Given the description of an element on the screen output the (x, y) to click on. 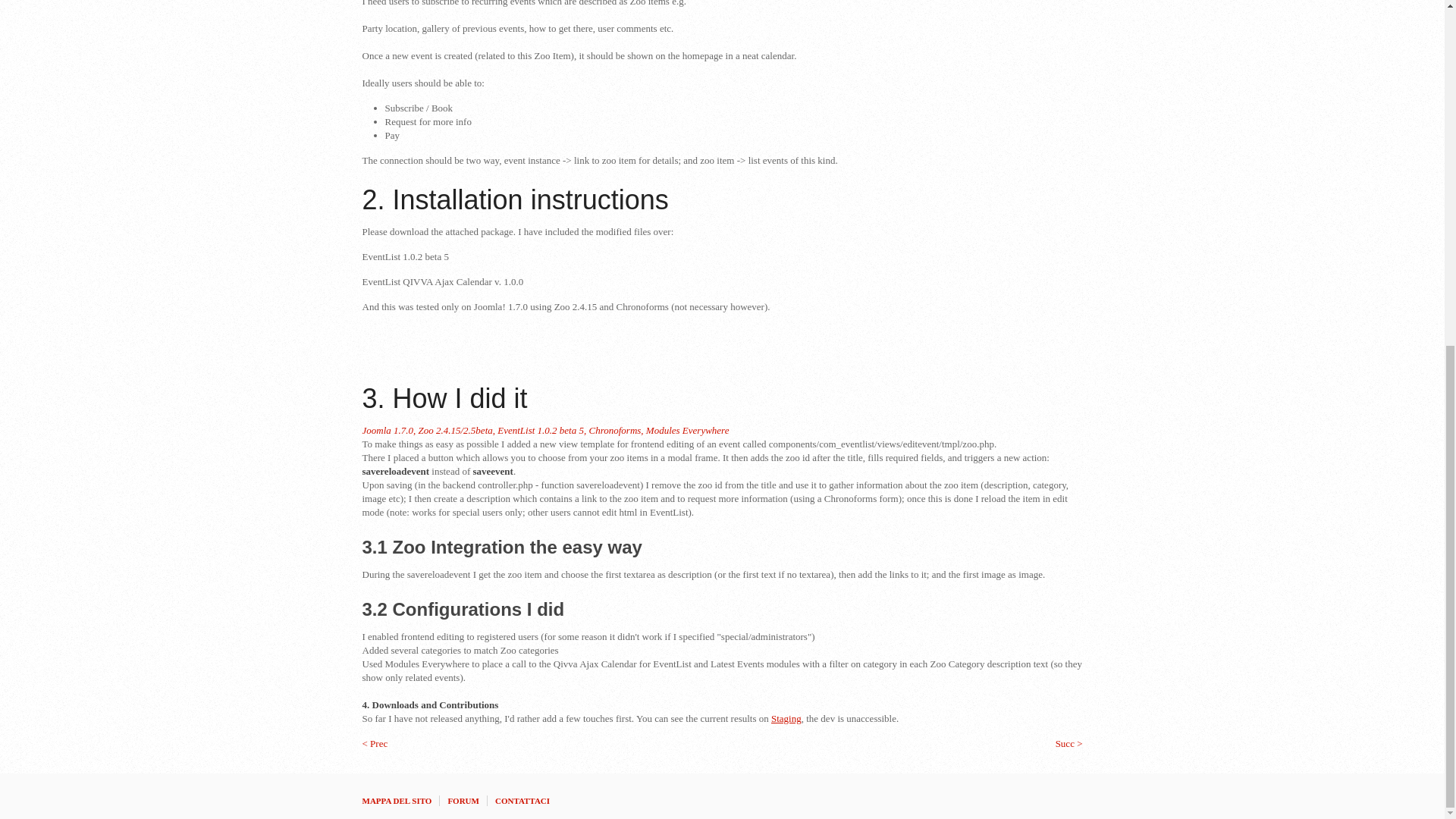
Staging (786, 717)
